Given the description of an element on the screen output the (x, y) to click on. 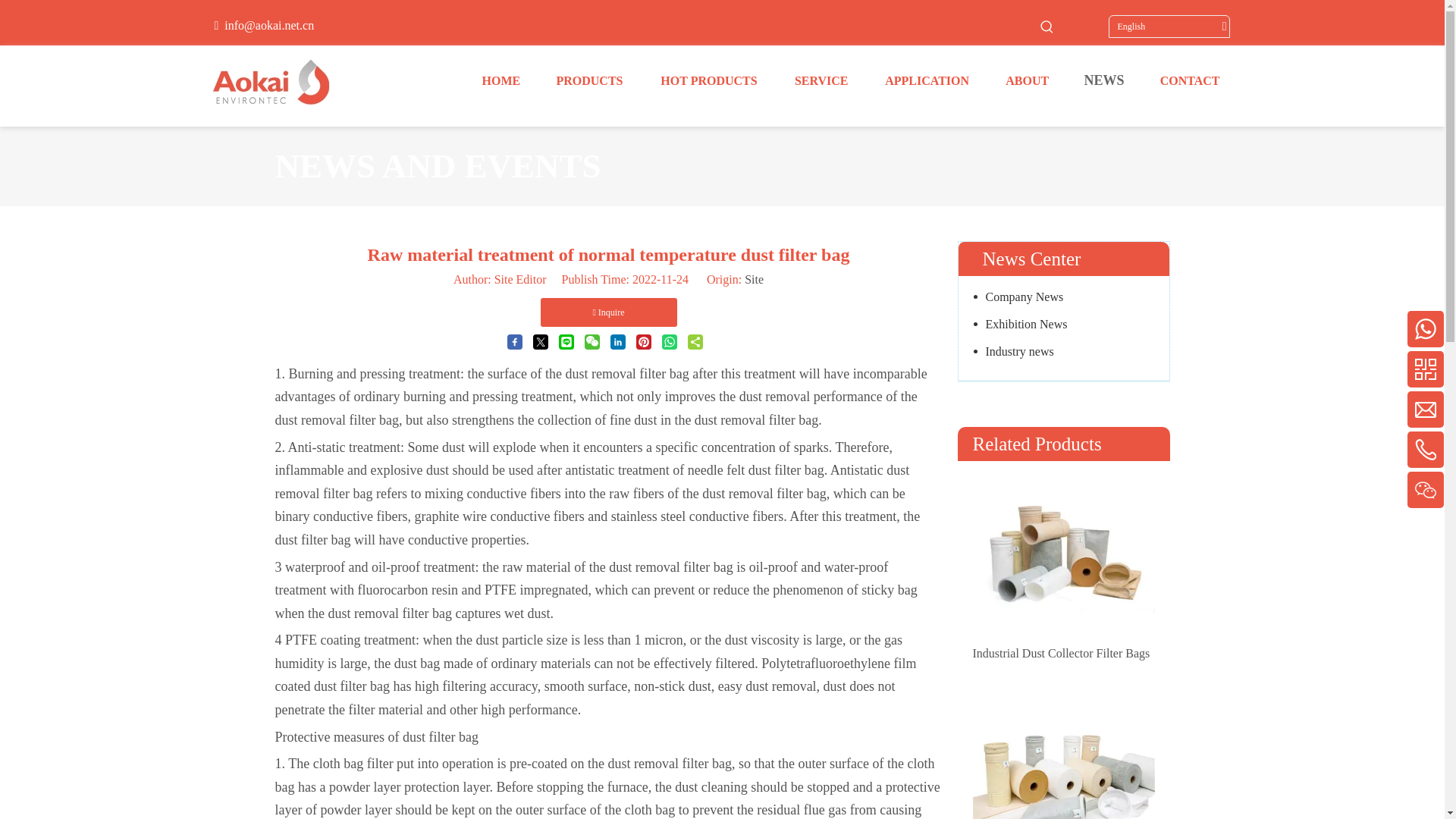
HOME (500, 81)
WhatsApp (1302, 562)
Wechat (1302, 685)
fiter bags-logo (291, 85)
Company News (1064, 297)
CONTACT (1190, 81)
SERVICE (821, 81)
Industrial Dust Collector Filter Bags  (1063, 652)
Exhibition News (1064, 324)
PRODUCTS (589, 81)
